Given the description of an element on the screen output the (x, y) to click on. 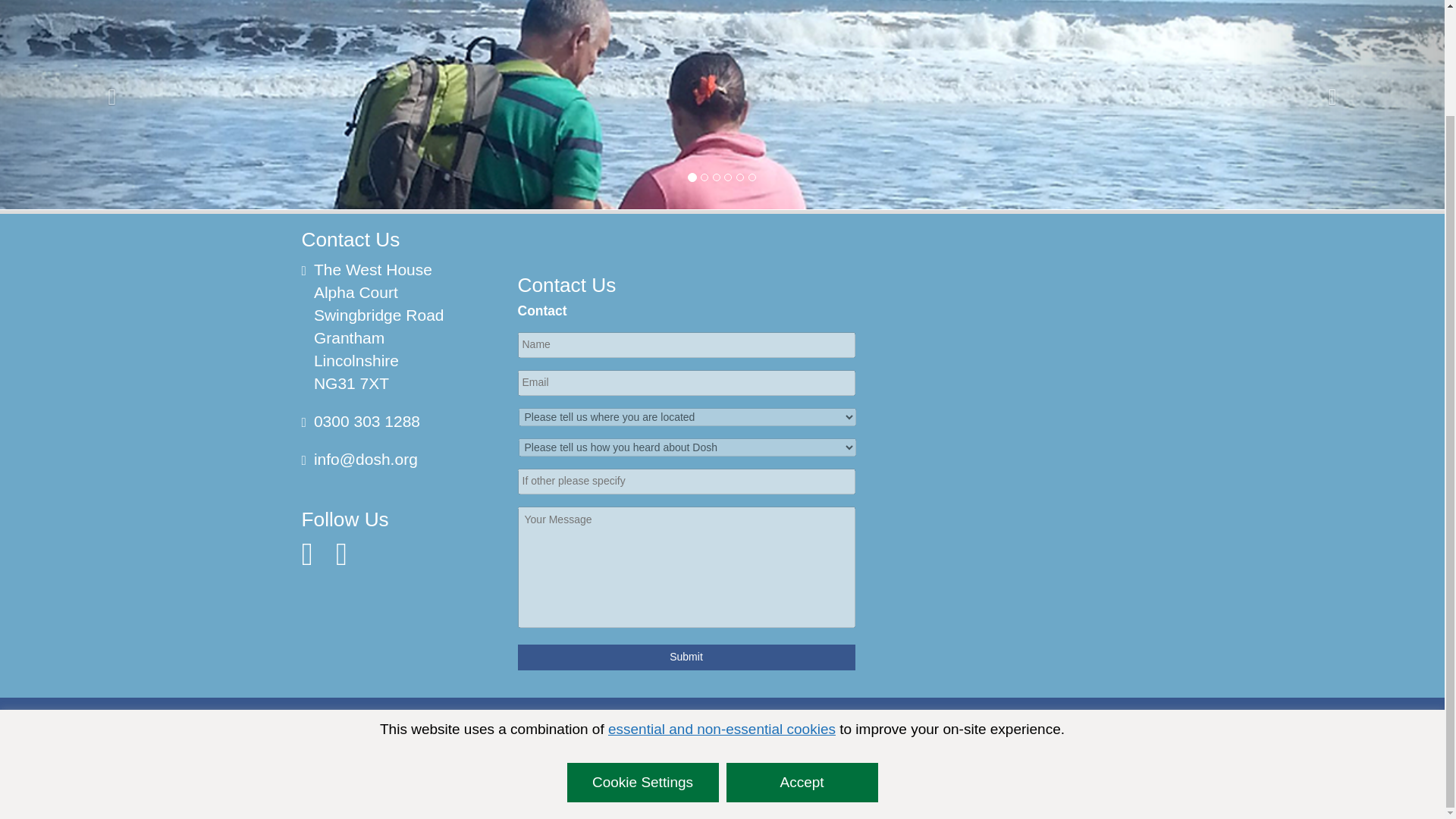
Submit (685, 657)
Submit (685, 657)
Thera Group (845, 791)
Cookie Settings (643, 658)
www.widgit.com (656, 777)
essential and non-essential cookies (721, 605)
Privacy Policy (334, 748)
